Given the description of an element on the screen output the (x, y) to click on. 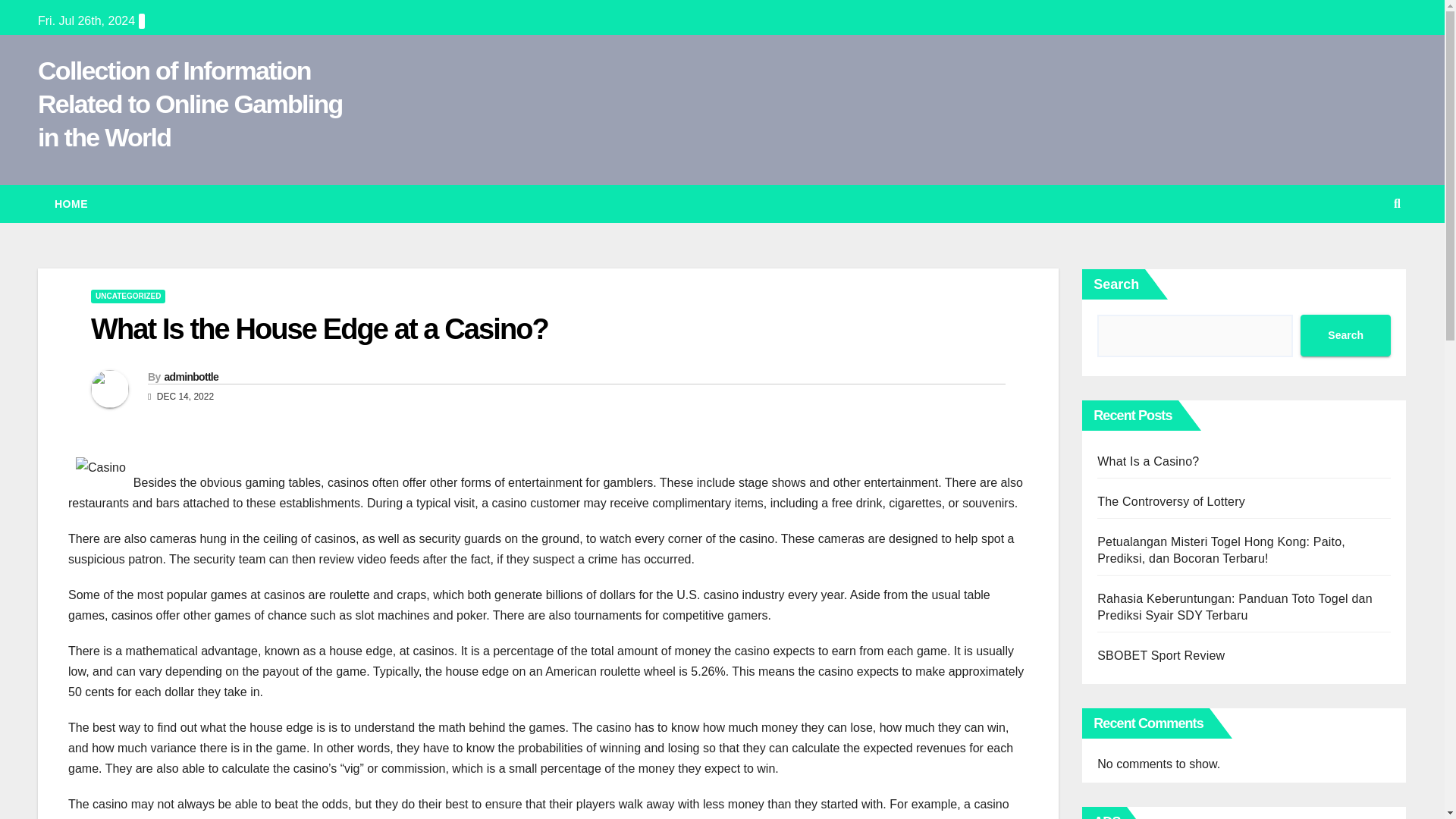
Permalink to: What Is the House Edge at a Casino? (319, 328)
SBOBET Sport Review (1160, 655)
What Is a Casino? (1147, 461)
Home (70, 203)
The Controversy of Lottery (1170, 501)
adminbottle (190, 377)
HOME (70, 203)
Search (1345, 335)
UNCATEGORIZED (127, 296)
What Is the House Edge at a Casino? (319, 328)
